Given the description of an element on the screen output the (x, y) to click on. 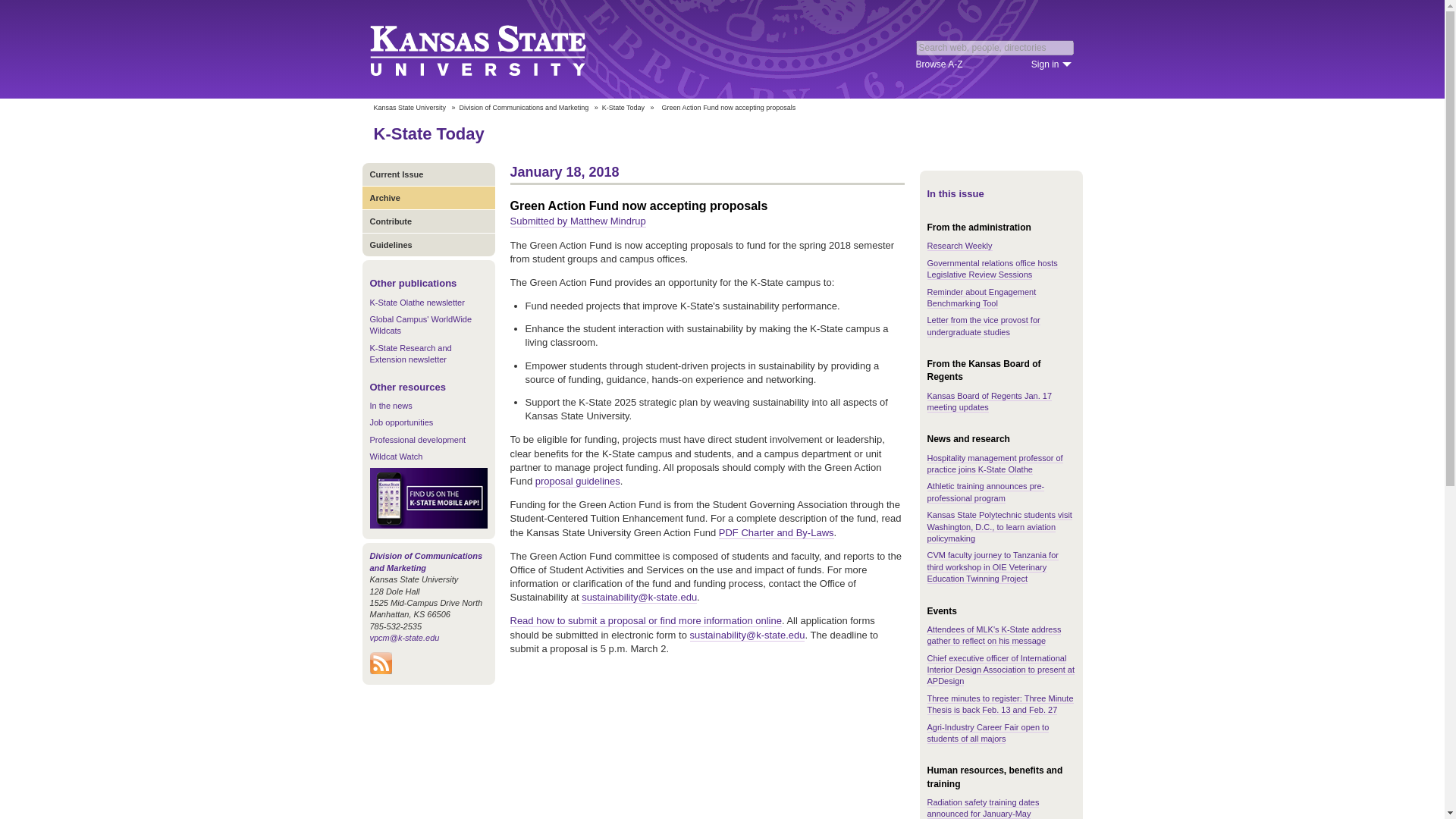
Professional development (417, 439)
Subscribe to K-State Today RSS feeds (380, 669)
Guidelines (428, 244)
K-State Today (623, 107)
Search web, people, directories (994, 47)
Kansas State University (408, 107)
Job opportunities (401, 421)
In the news (390, 405)
Current Issue (428, 173)
